Given the description of an element on the screen output the (x, y) to click on. 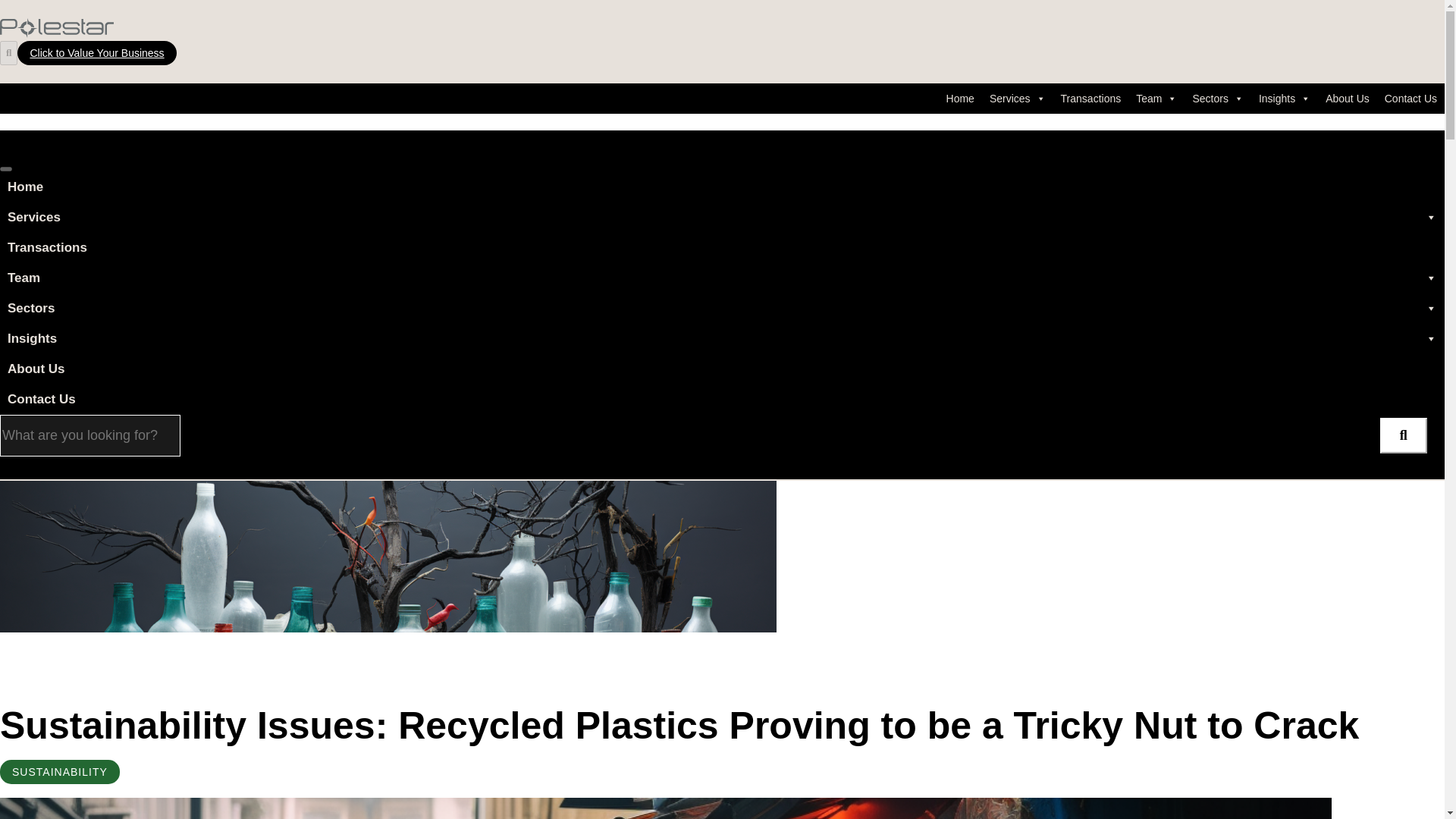
Transactions (1090, 98)
Team (1156, 98)
Sectors (1217, 98)
Services (1016, 98)
Home (960, 98)
Click to Value Your Business (96, 52)
Feature image (388, 556)
